Given the description of an element on the screen output the (x, y) to click on. 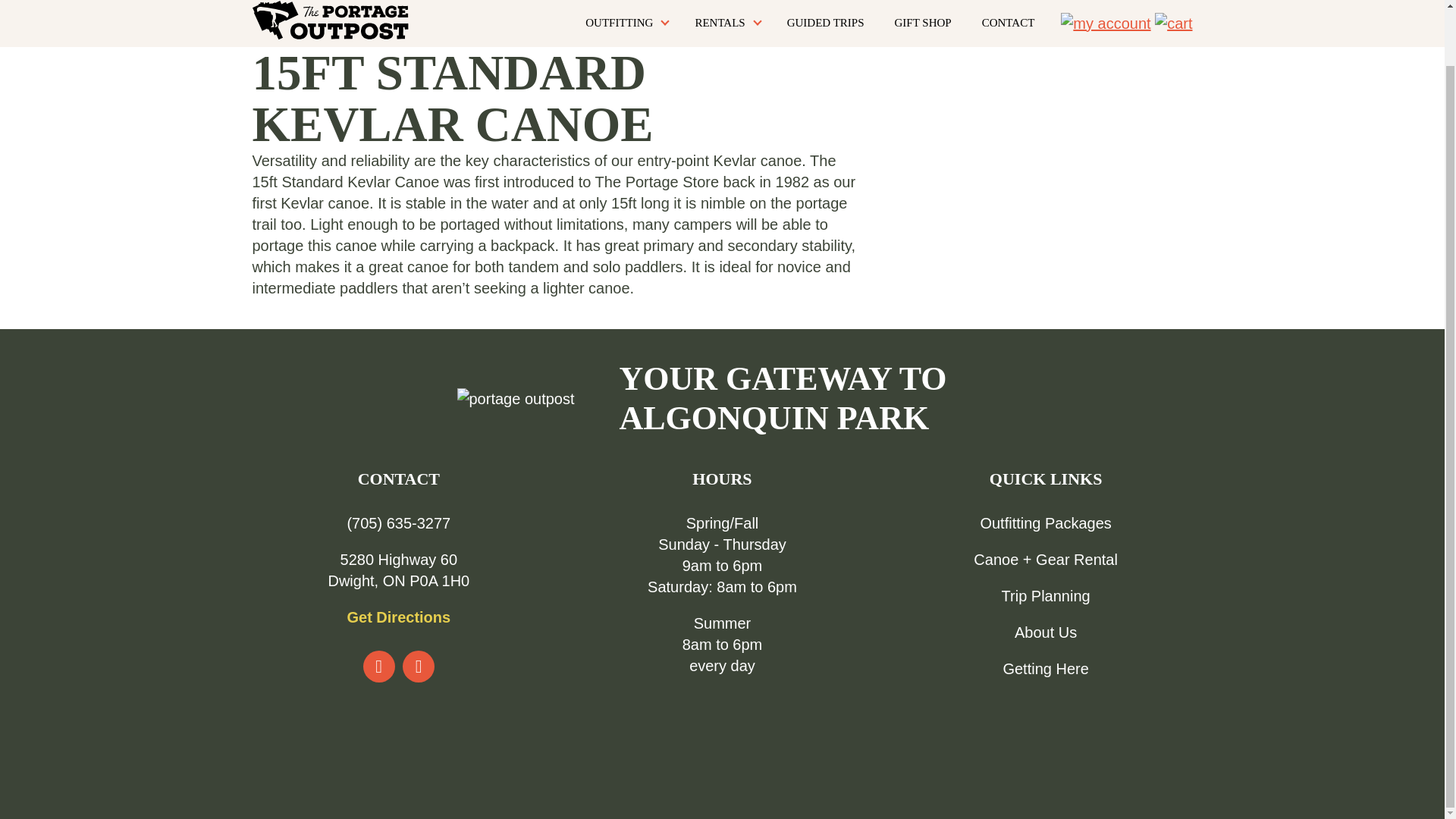
Get Directions (397, 617)
GIFT SHOP (923, 23)
GUIDED TRIPS (825, 23)
CONTACT (1008, 23)
RENTALS (725, 23)
OUTFITTING (624, 23)
Outfitting Packages (1044, 523)
Getting Here (1045, 668)
